Given the description of an element on the screen output the (x, y) to click on. 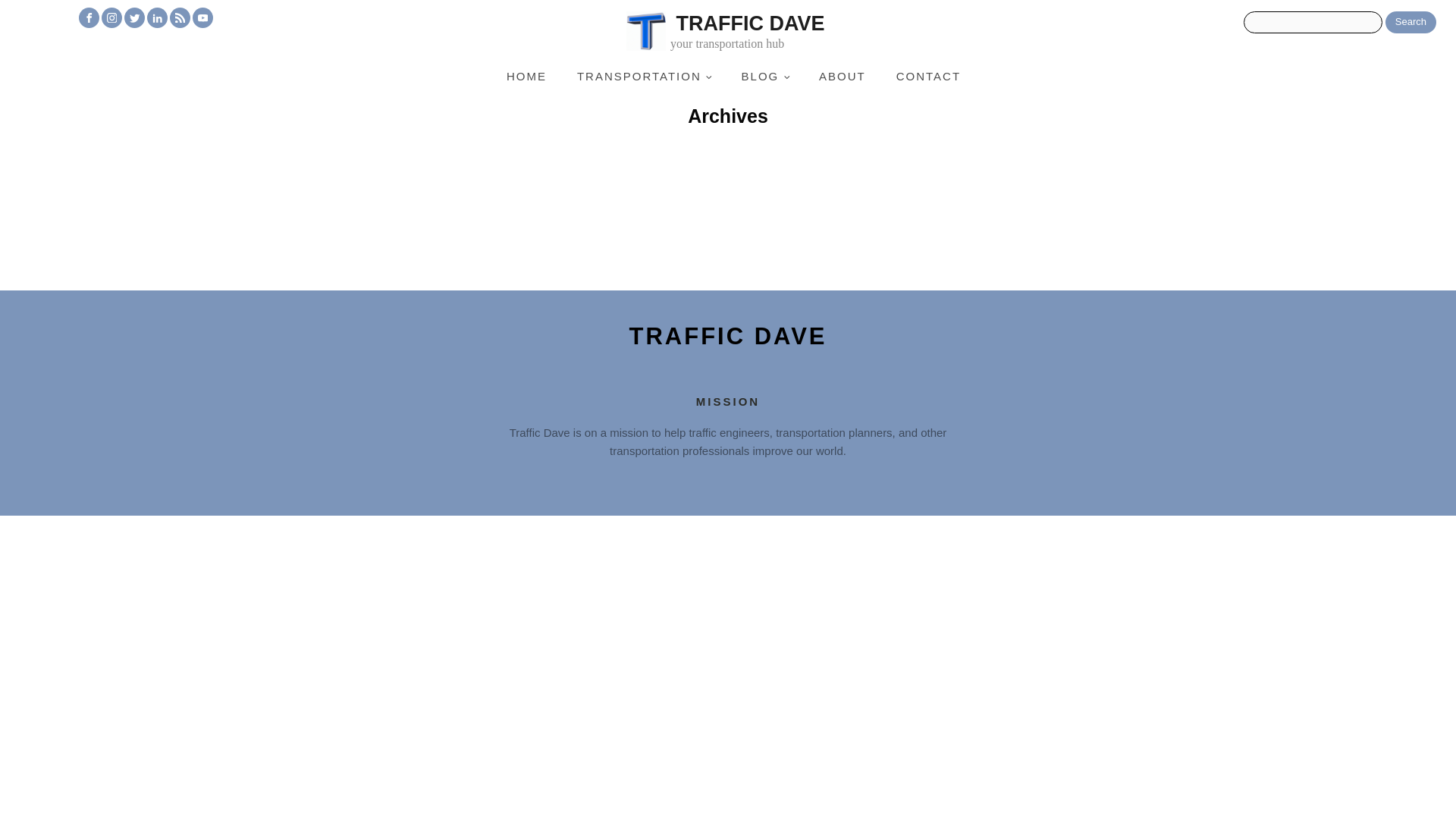
Search (1410, 22)
HOME (527, 76)
CONTACT (927, 76)
TRANSPORTATION (644, 76)
BLOG (764, 76)
TRAFFIC DAVE (727, 336)
Search (1410, 22)
ABOUT (749, 32)
